Given the description of an element on the screen output the (x, y) to click on. 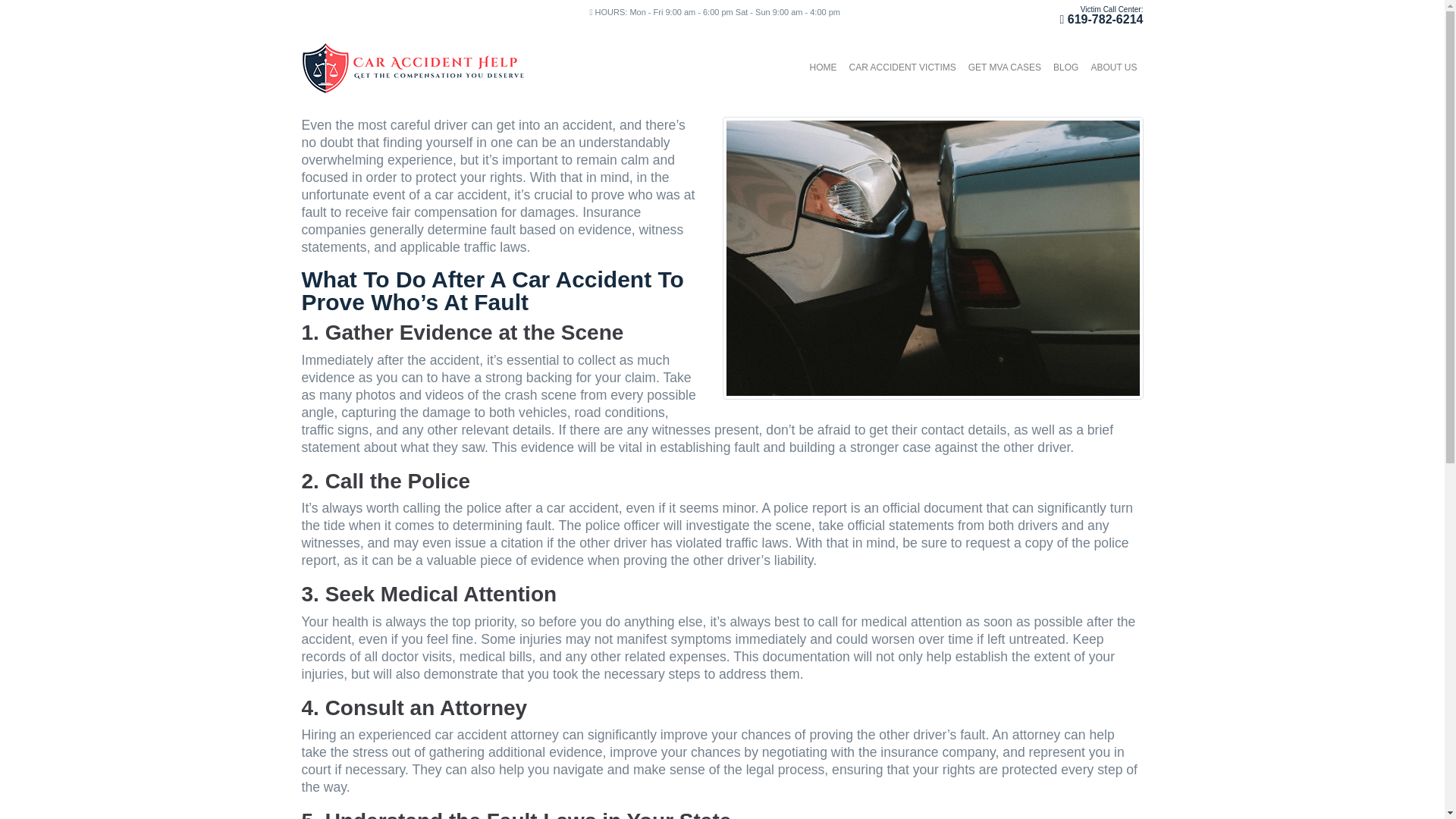
HOME (823, 67)
BLOG (1065, 67)
GET MVA CASES (1004, 67)
619-782-6214 (1104, 19)
CAR ACCIDENT VICTIMS (902, 67)
ABOUT US (1113, 67)
